Given the description of an element on the screen output the (x, y) to click on. 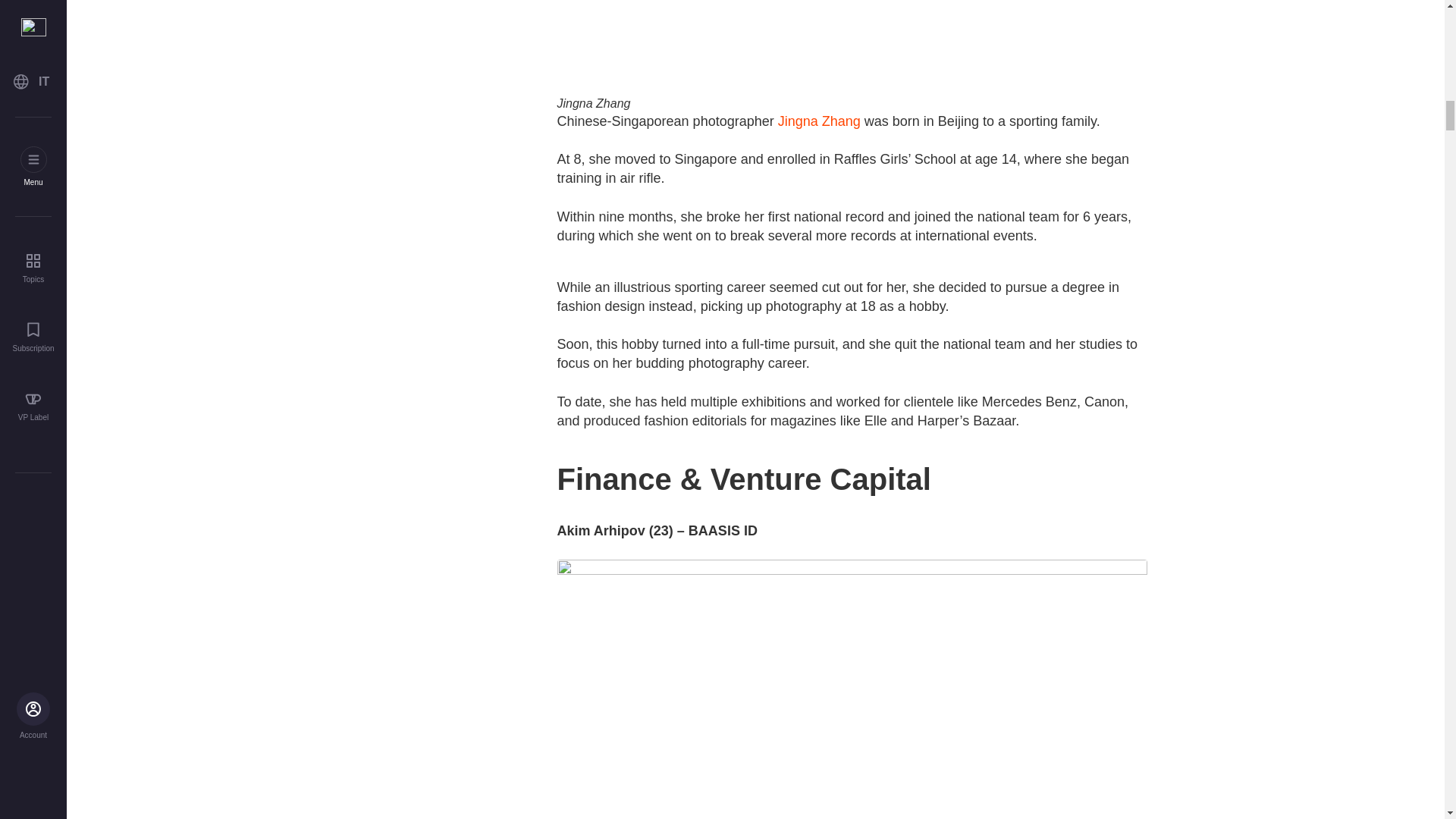
Jingna Zhang (818, 120)
